Given the description of an element on the screen output the (x, y) to click on. 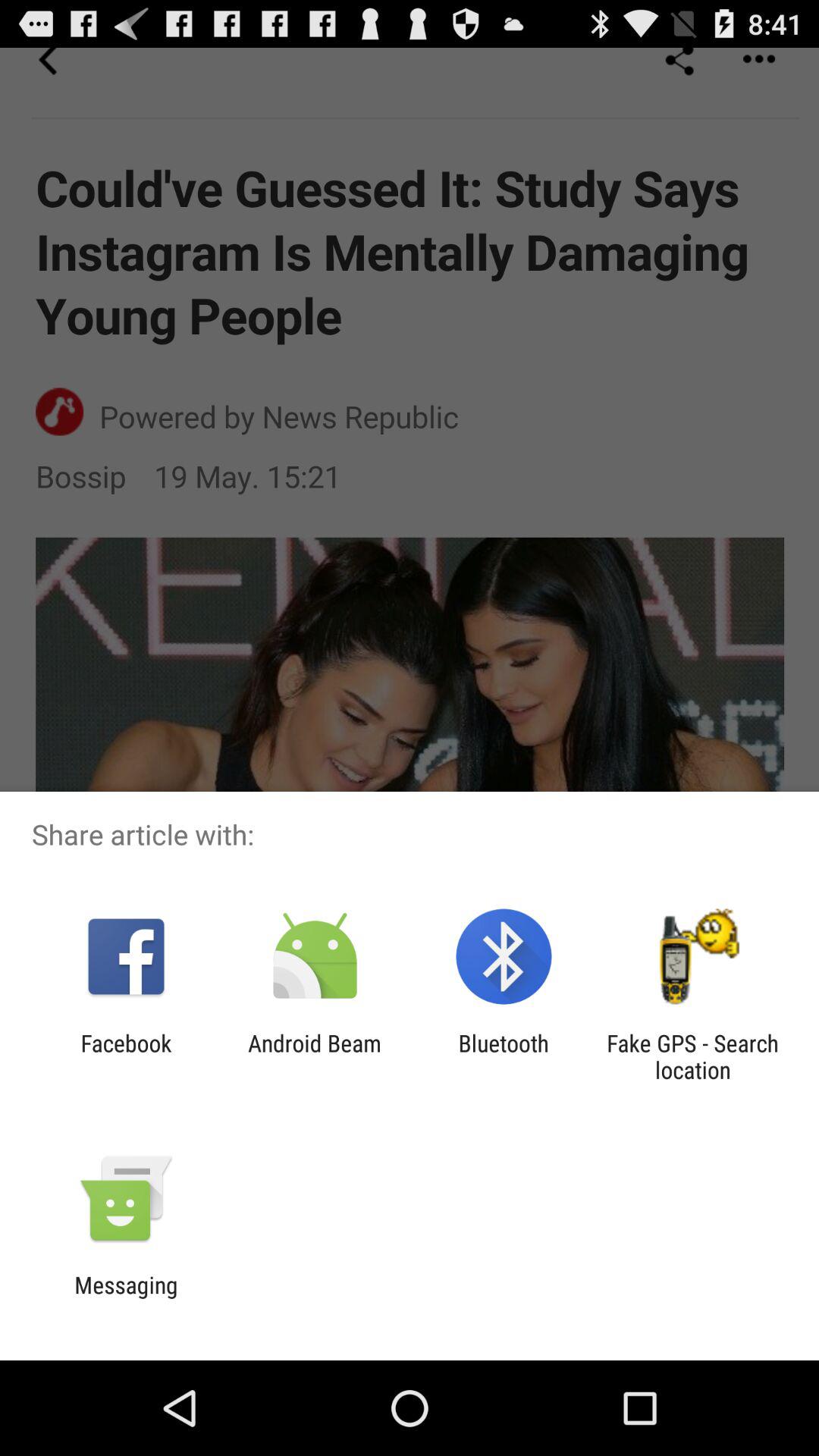
turn on the android beam item (314, 1056)
